Given the description of an element on the screen output the (x, y) to click on. 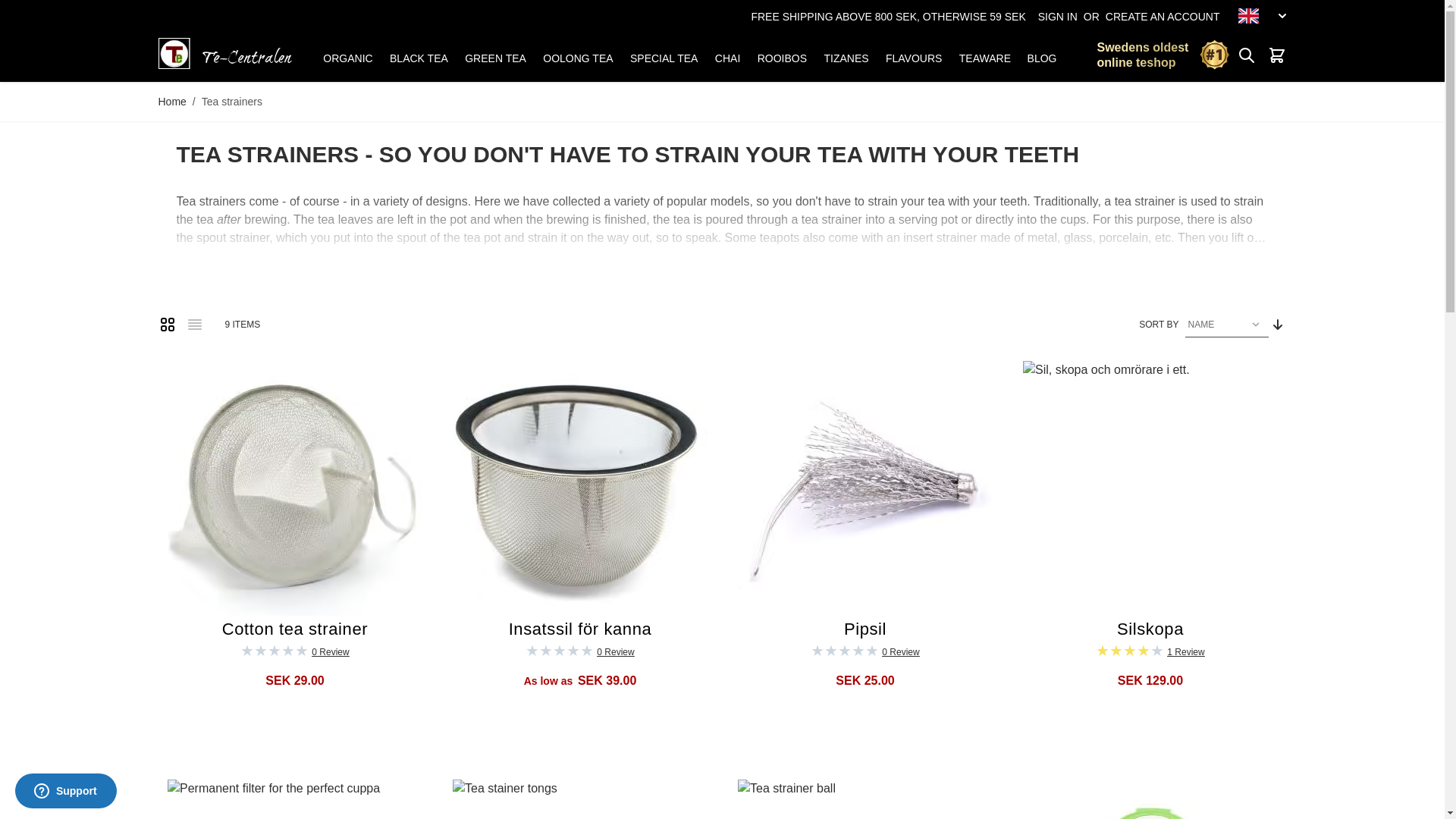
ORGANIC (347, 57)
OOLONG TEA (577, 57)
SIGN IN (1057, 16)
BLACK TEA (417, 57)
GREEN TEA (494, 57)
SPECIAL TEA (662, 57)
SPECIAL TEA (663, 57)
Te-Centralen (225, 53)
Green tea (494, 57)
GREEN TEA (493, 57)
